Given the description of an element on the screen output the (x, y) to click on. 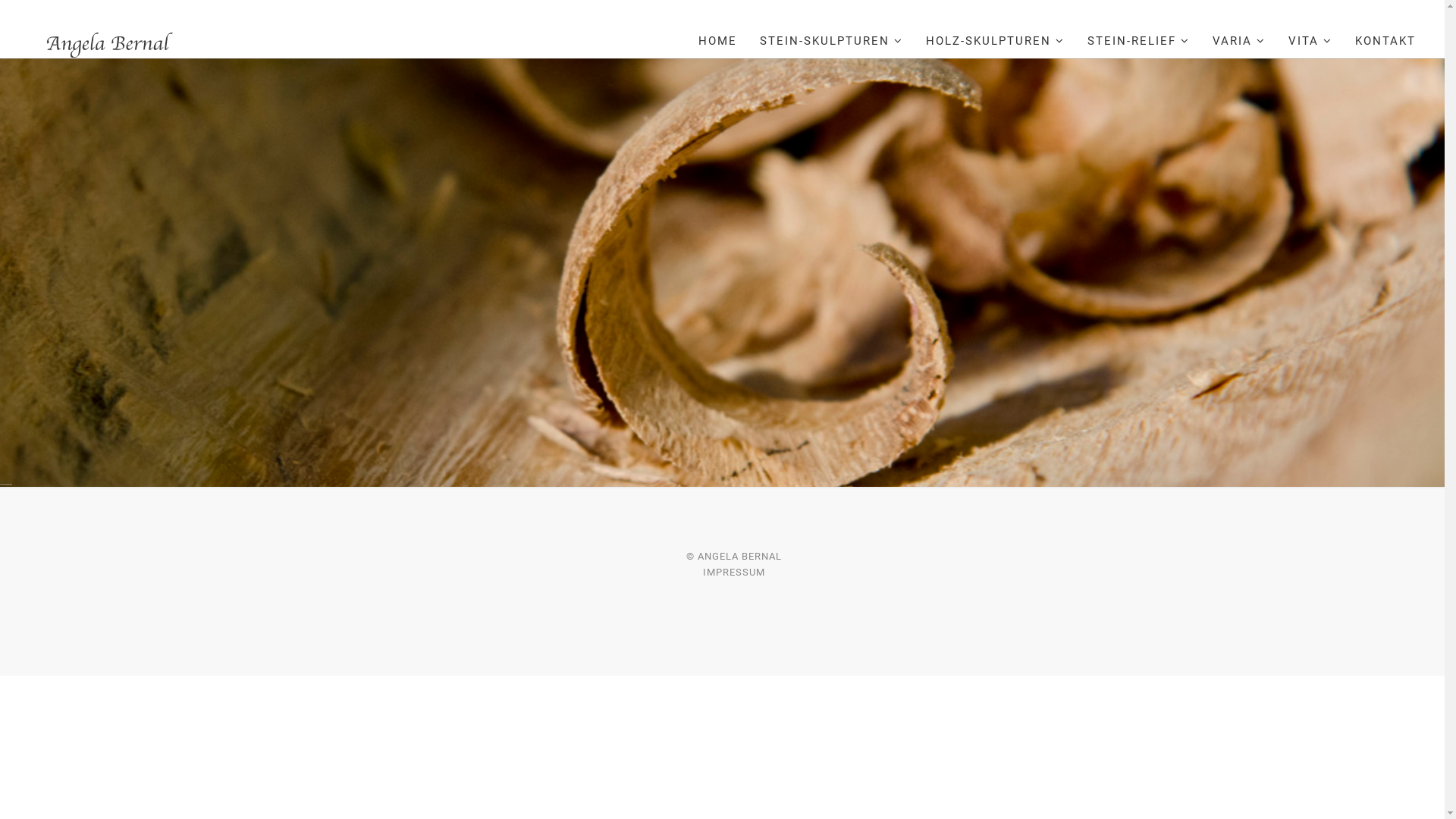
KONTAKT Element type: text (1385, 41)
HOLZ-SKULPTUREN Element type: text (994, 41)
VITA Element type: text (1310, 41)
HOME Element type: text (717, 41)
STEIN-SKULPTUREN Element type: text (831, 41)
VARIA Element type: text (1238, 41)
IMPRESSUM Element type: text (733, 571)
STEIN-RELIEF Element type: text (1138, 41)
